Given the description of an element on the screen output the (x, y) to click on. 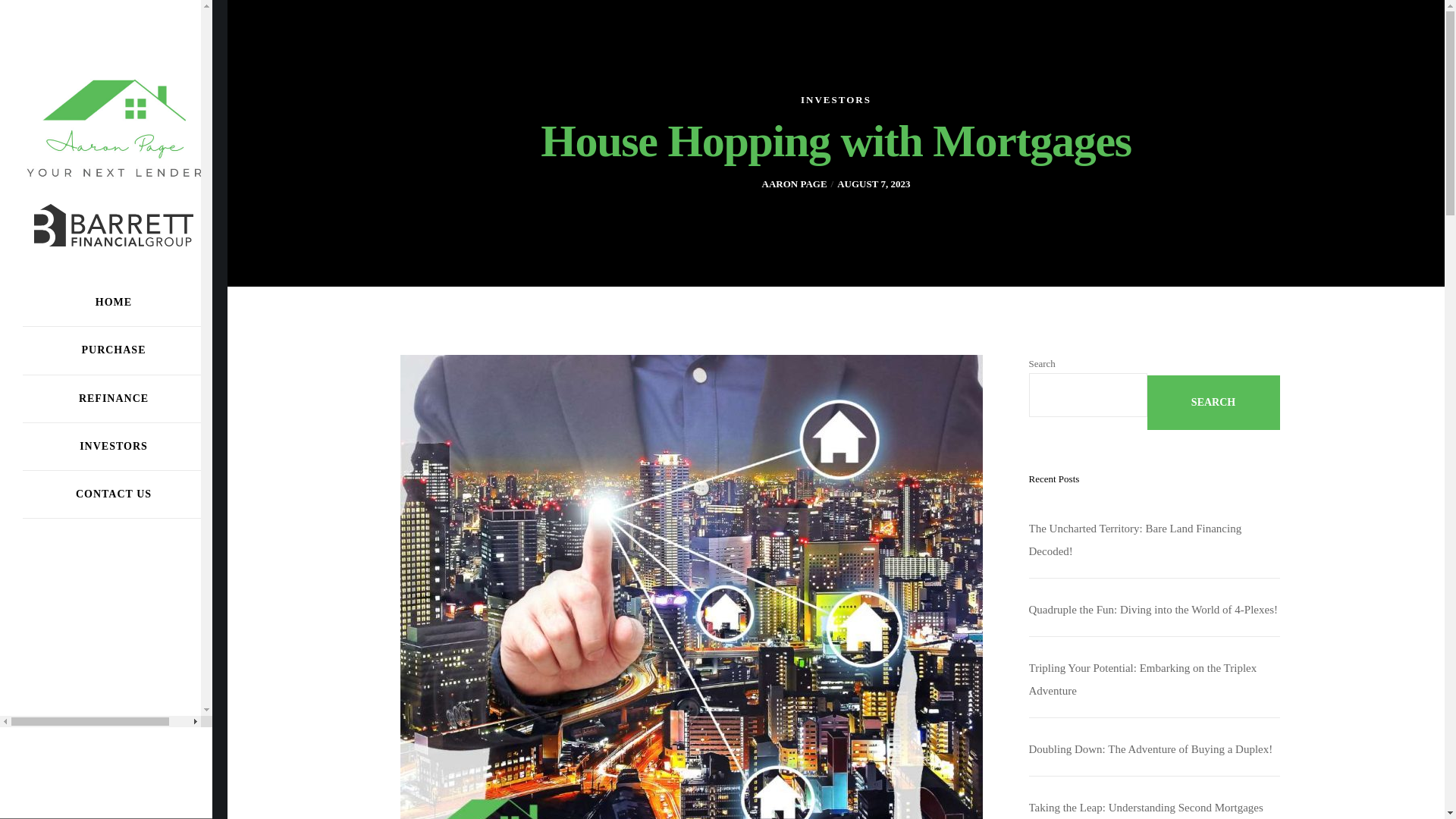
Quadruple the Fun: Diving into the World of 4-Plexes! (1151, 609)
Taking the Leap: Understanding Second Mortgages (1144, 807)
HOME (114, 302)
The Uncharted Territory: Bare Land Financing Decoded! (1134, 539)
REFINANCE (114, 399)
INVESTORS (835, 101)
CONTACT US (114, 494)
INVESTORS (114, 446)
AARON PAGE (794, 183)
Tripling Your Potential: Embarking on the Triplex Adventure (1141, 678)
